Given the description of an element on the screen output the (x, y) to click on. 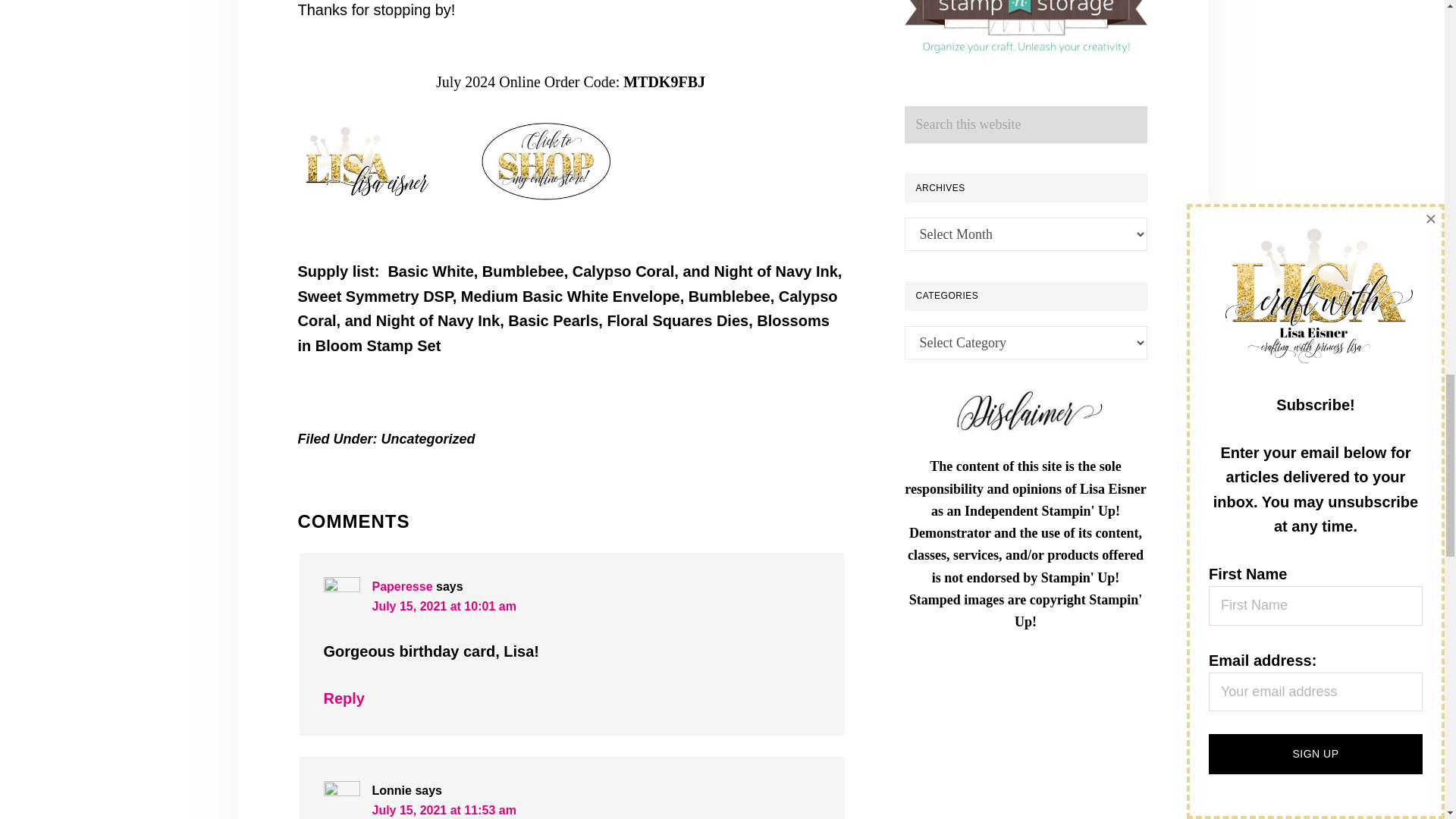
Uncategorized (428, 438)
July 15, 2021 at 11:53 am (443, 809)
July 15, 2021 at 10:01 am (443, 605)
Reply (343, 698)
Paperesse (401, 585)
